Given the description of an element on the screen output the (x, y) to click on. 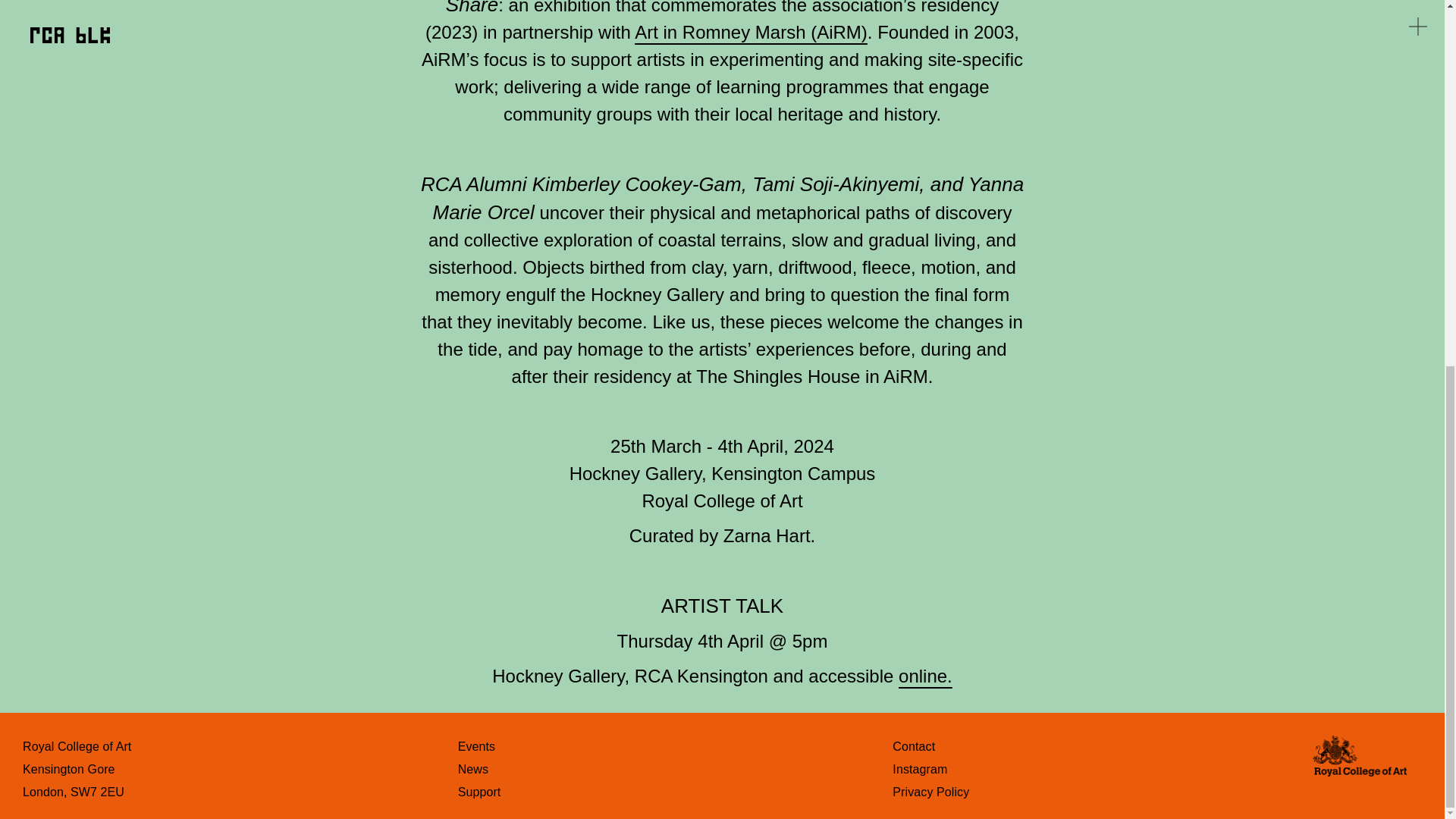
online. (925, 675)
News (472, 768)
Support (479, 791)
Events (477, 746)
Instagram (919, 768)
Contact (913, 746)
Privacy Policy (930, 791)
